Given the description of an element on the screen output the (x, y) to click on. 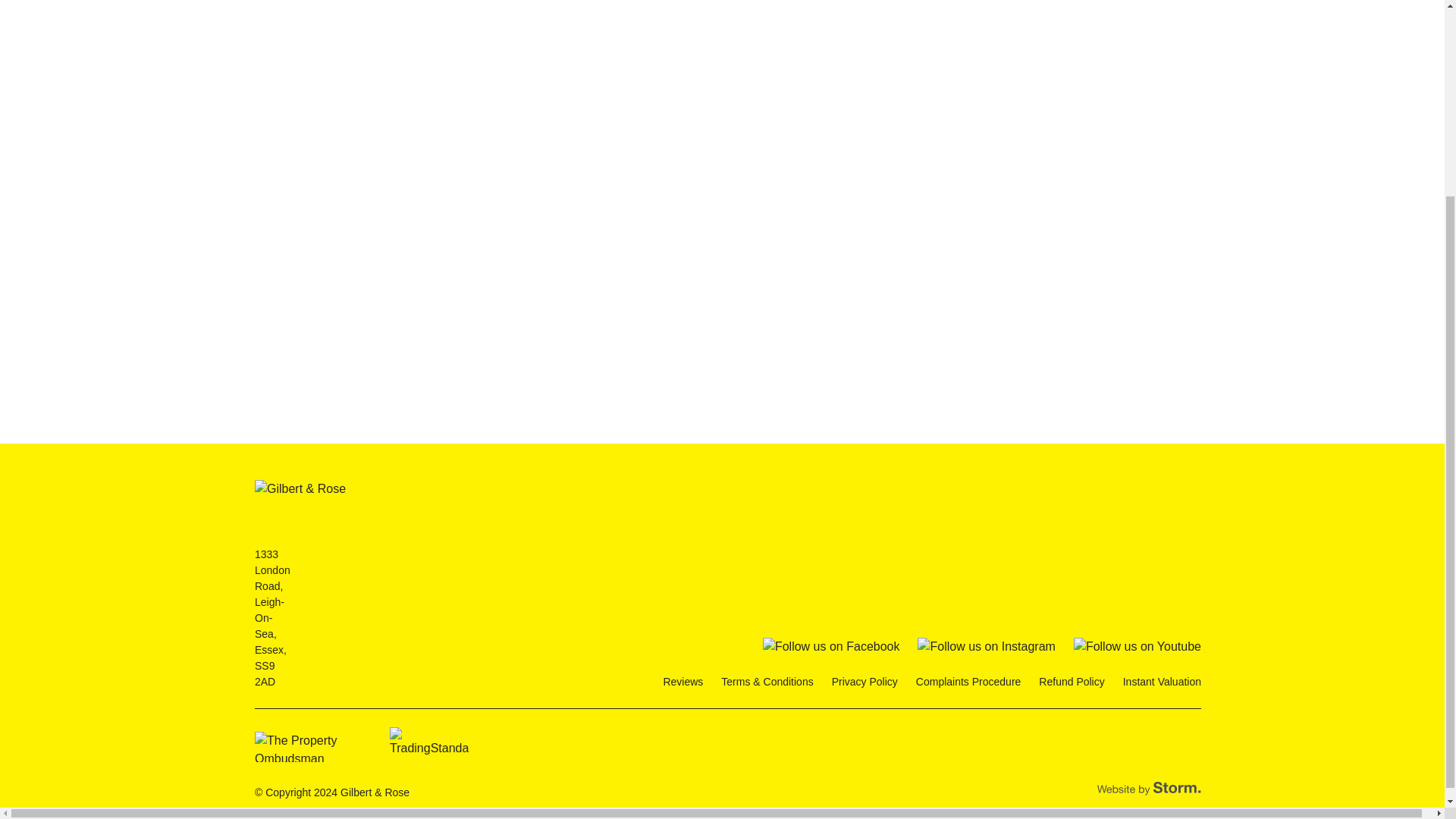
Complaints Procedure (968, 682)
View Homepage (300, 503)
View Reviews (682, 682)
Reviews (682, 682)
Website by Storm Creative (1149, 788)
Refund Policy (1071, 682)
Instant Valuation (1161, 682)
Privacy Policy (864, 682)
